Given the description of an element on the screen output the (x, y) to click on. 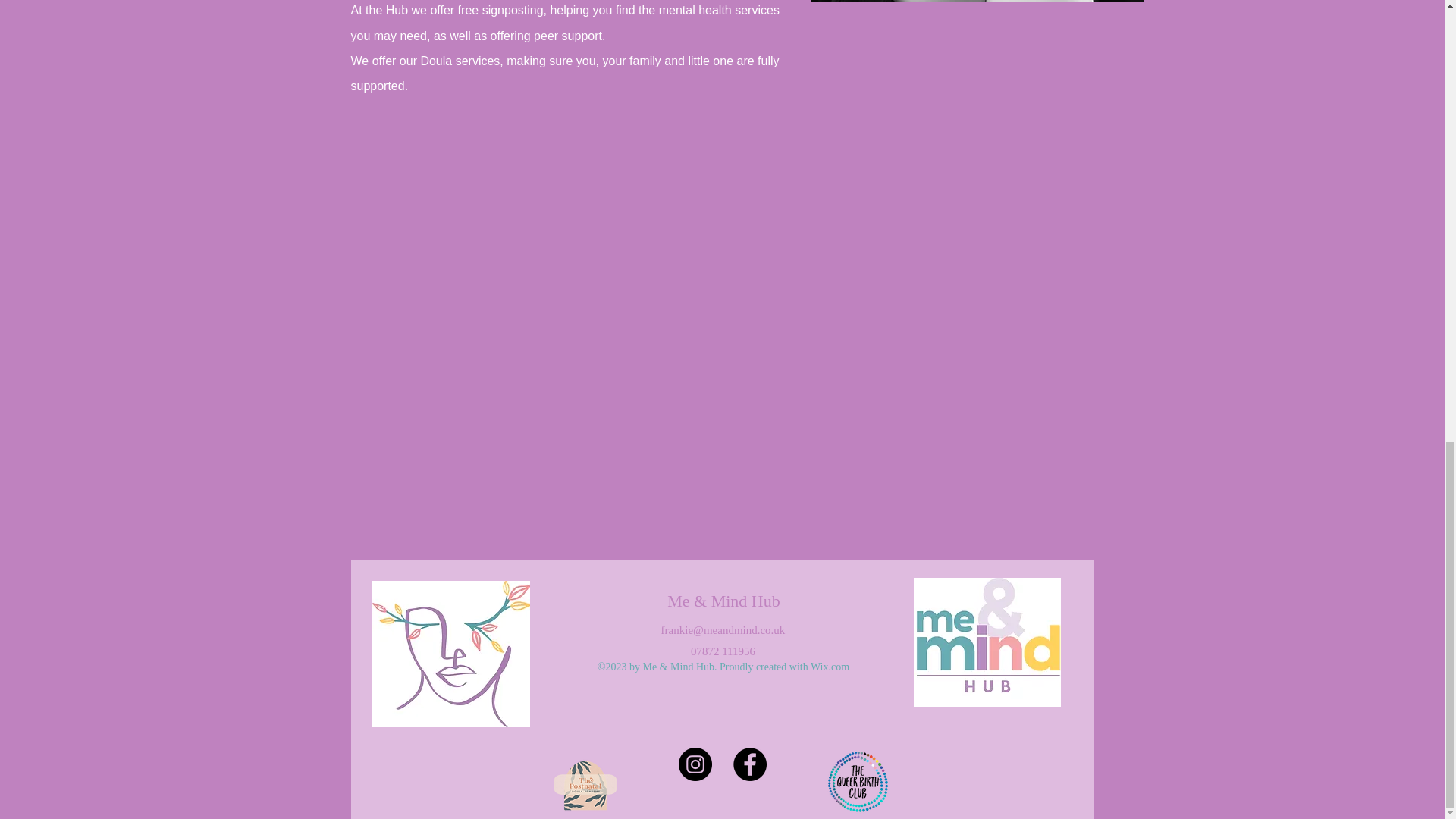
Me and Mind Hub Emblem jpg.jpg (450, 653)
